Given the description of an element on the screen output the (x, y) to click on. 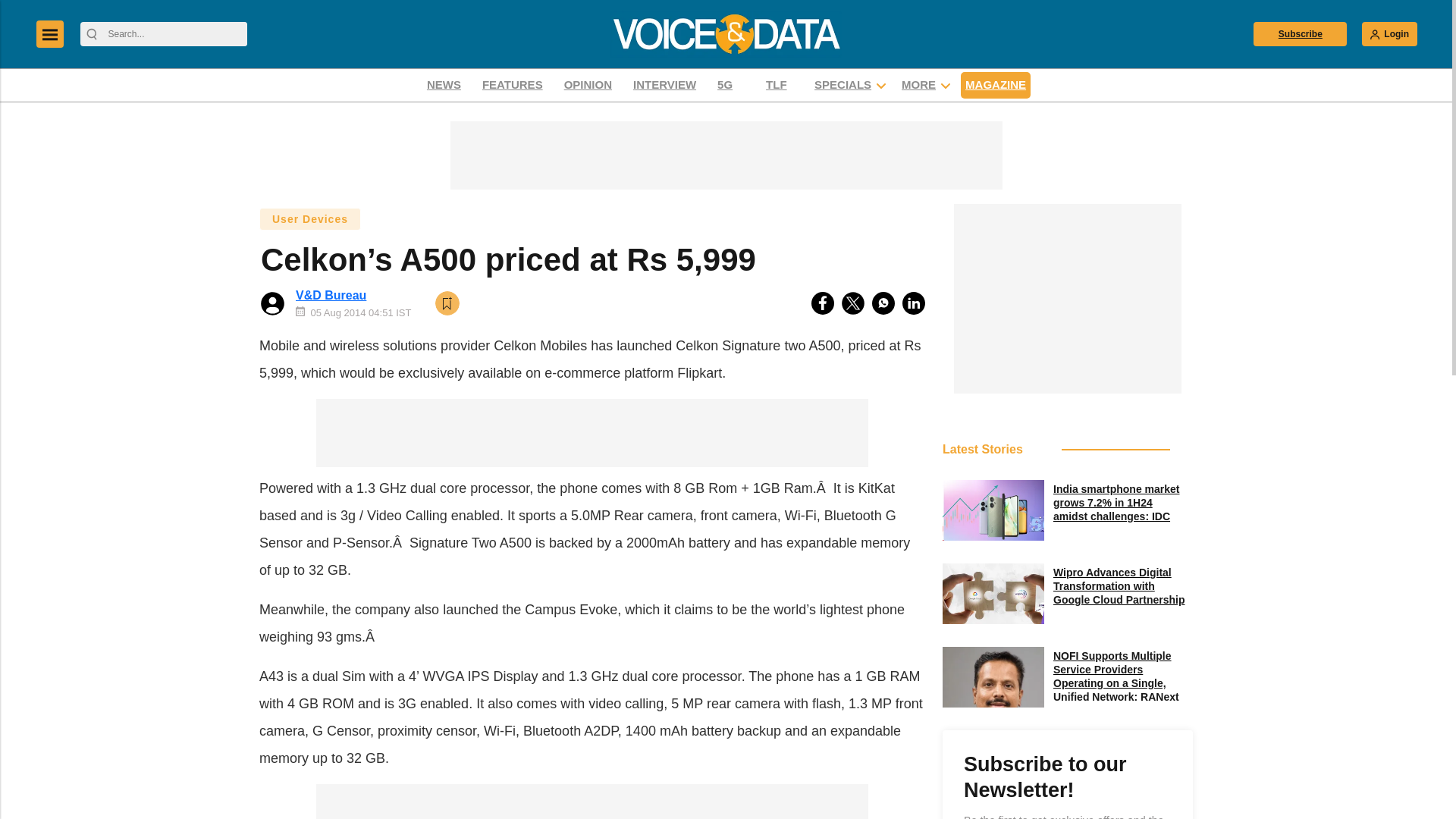
TLF (778, 84)
FEATURES (512, 84)
NEWS (443, 84)
INTERVIEW (664, 84)
MAGAZINE (995, 85)
3rd party ad content (1066, 298)
Login (1388, 33)
3rd party ad content (591, 801)
Subscribe (1299, 33)
User Devices (310, 219)
